Given the description of an element on the screen output the (x, y) to click on. 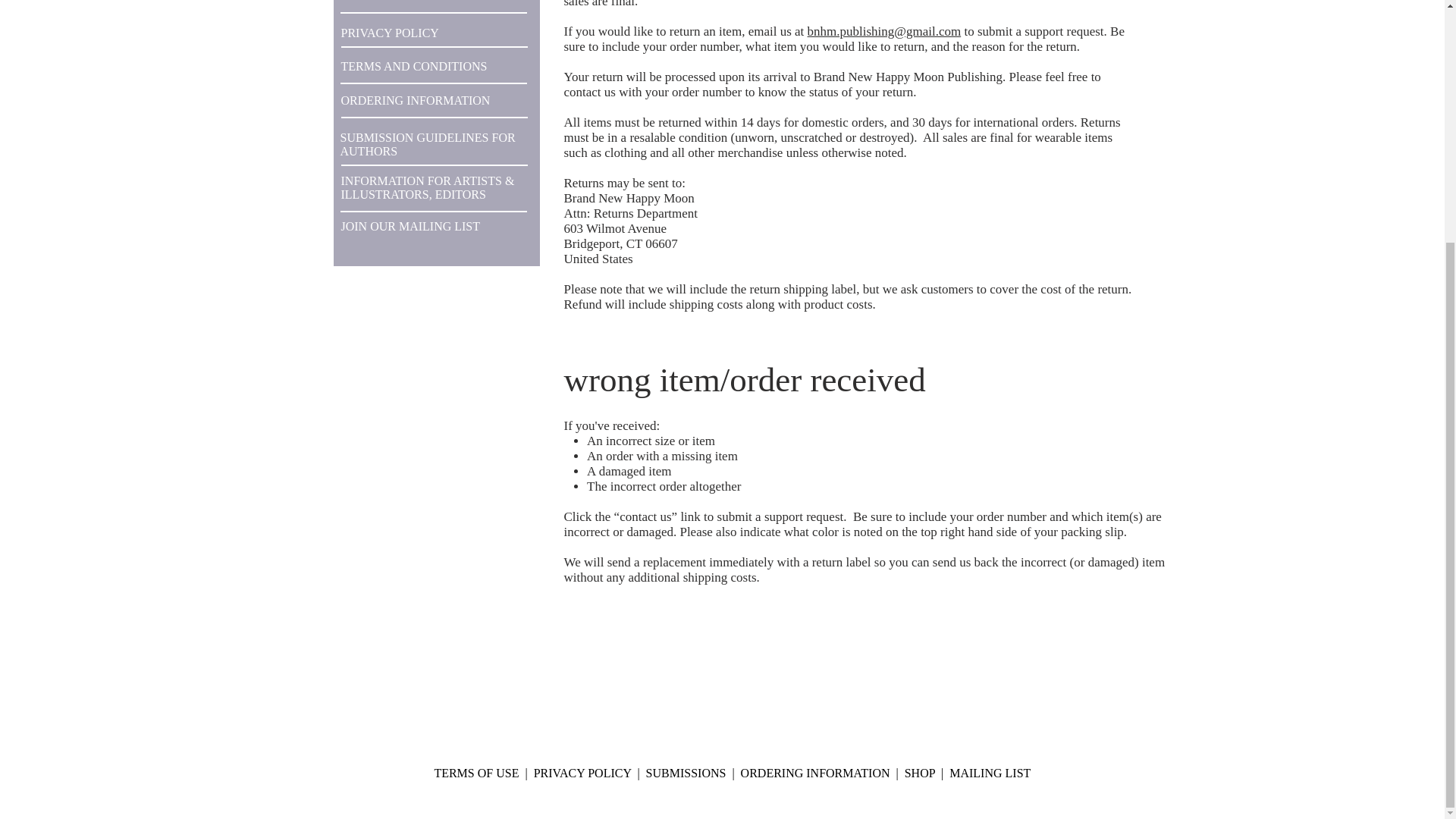
TERMS OF USE (475, 772)
SUBMISSION GUIDELINES FOR AUTHORS (427, 144)
GENERAL CONTACT (398, 1)
MAILING LIST (989, 772)
TERMS AND CONDITIONS (413, 65)
SUBMISSIONS (686, 772)
JOIN OUR MAILING LIST (410, 226)
PRIVACY POLICY (389, 32)
ORDERING INFORMATION (813, 772)
PRIVACY POLICY  (582, 772)
